Given the description of an element on the screen output the (x, y) to click on. 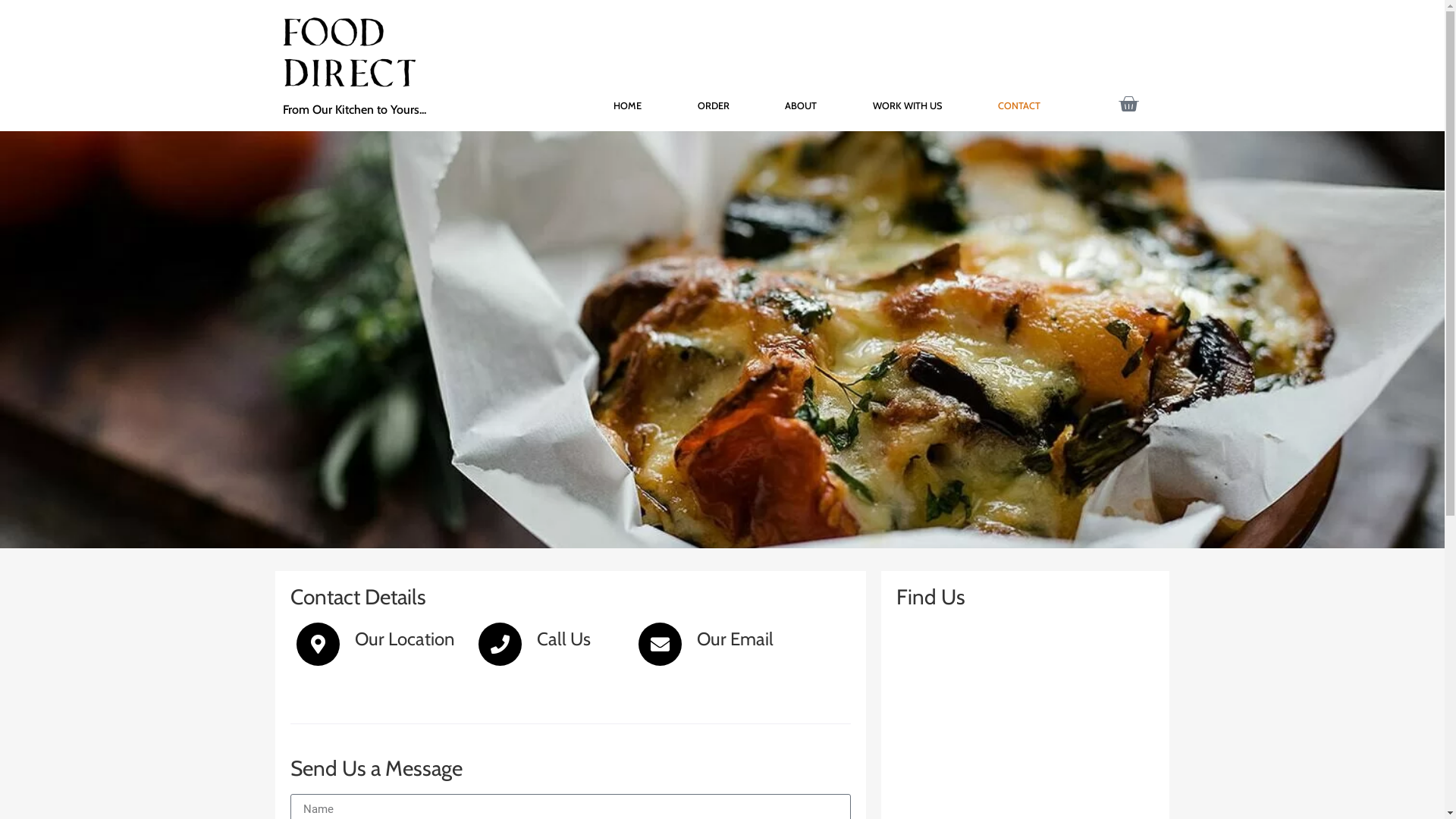
CONTACT Element type: text (1018, 105)
ORDER Element type: text (713, 105)
WORK WITH US Element type: text (906, 105)
HOME Element type: text (627, 105)
Call Us Element type: text (563, 638)
Our Email Element type: text (734, 638)
ABOUT Element type: text (801, 105)
